Given the description of an element on the screen output the (x, y) to click on. 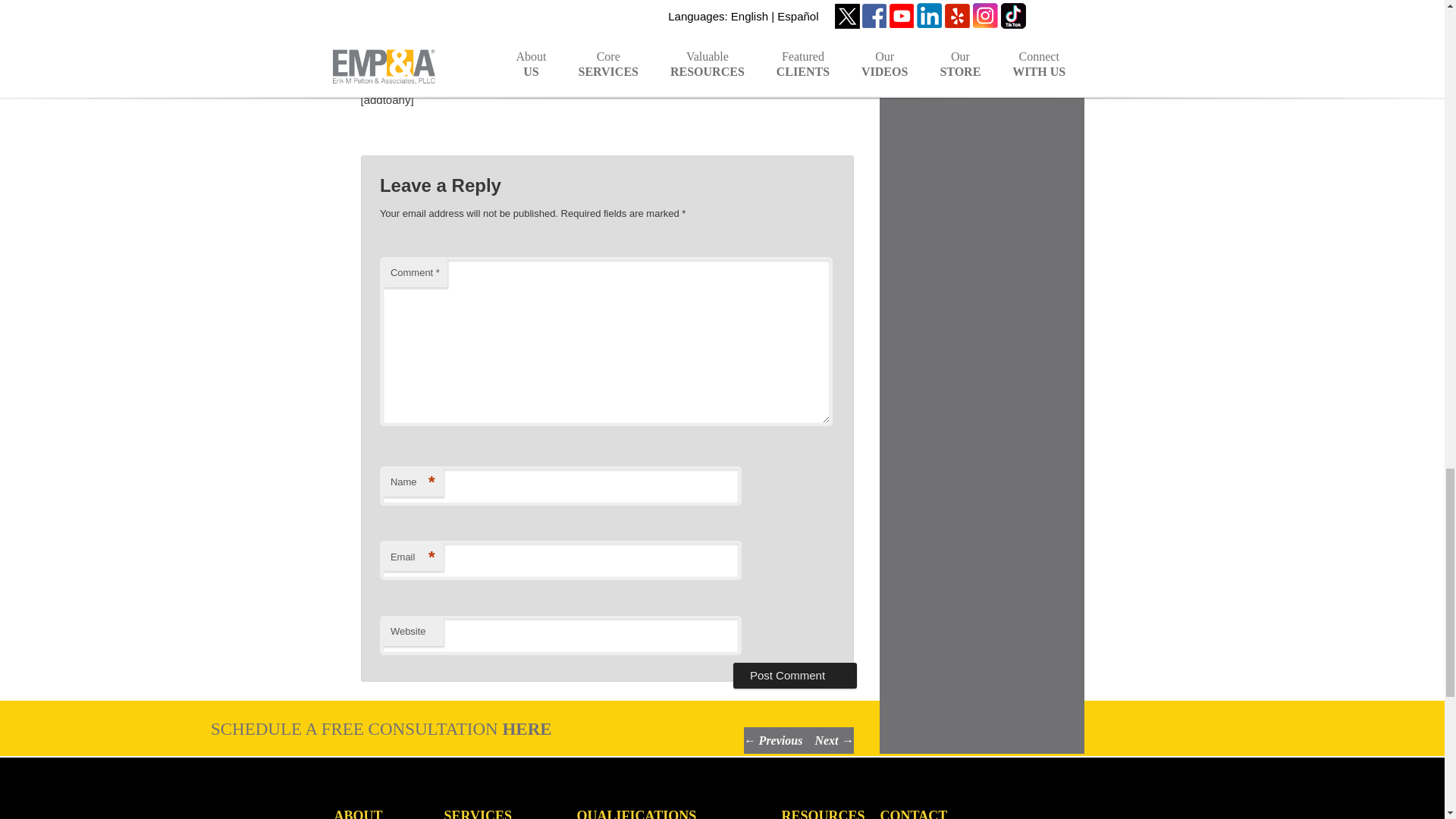
Post Comment (795, 675)
